Given the description of an element on the screen output the (x, y) to click on. 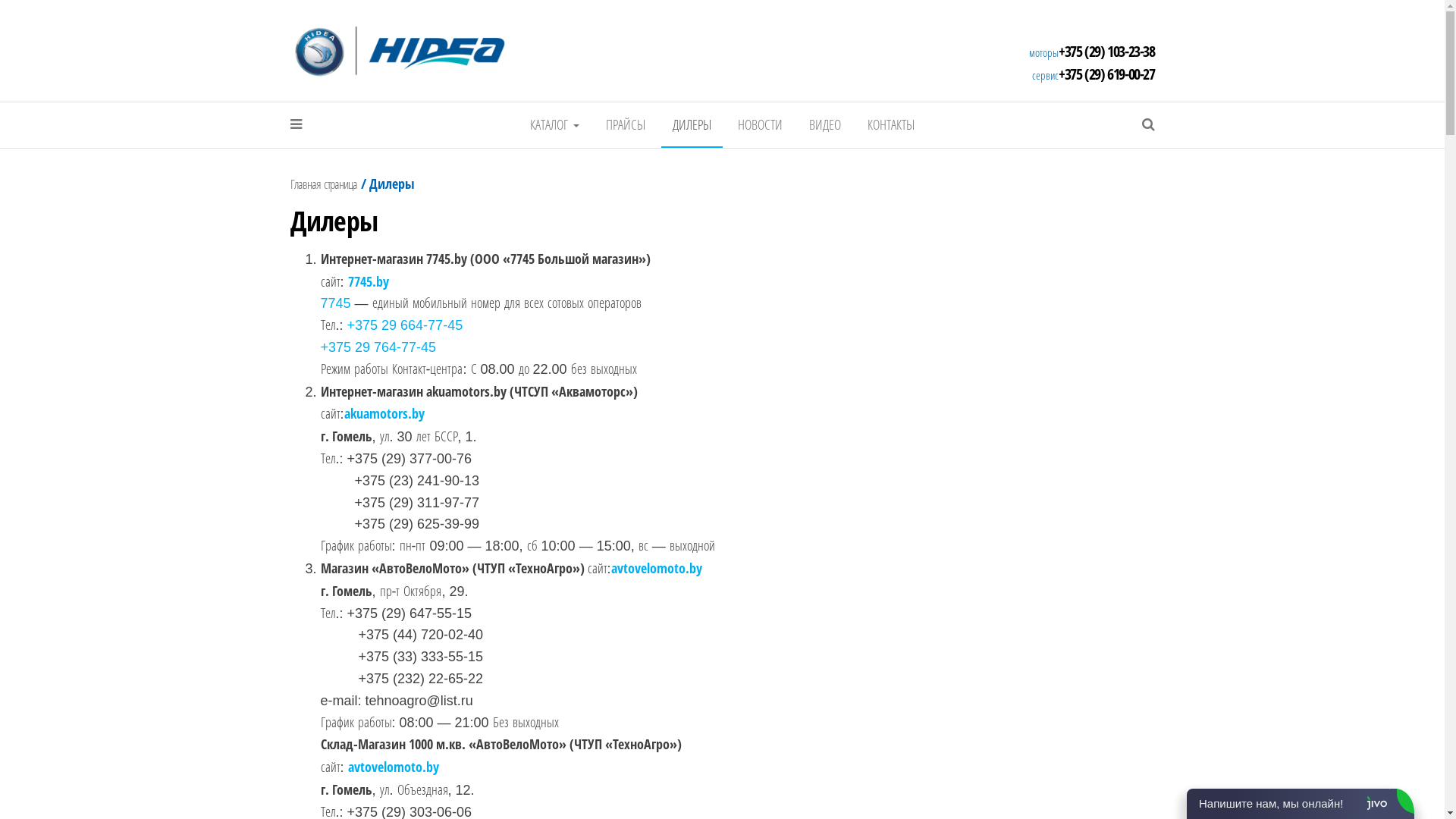
avtovelomoto.by Element type: text (393, 766)
+375 29 764-77-45 Element type: text (378, 346)
7745 Element type: text (335, 302)
avtovelomoto.by Element type: text (656, 567)
akuamotors.by Element type: text (384, 413)
+375 29 664-77-45 Element type: text (405, 324)
7745.by Element type: text (368, 281)
